Given the description of an element on the screen output the (x, y) to click on. 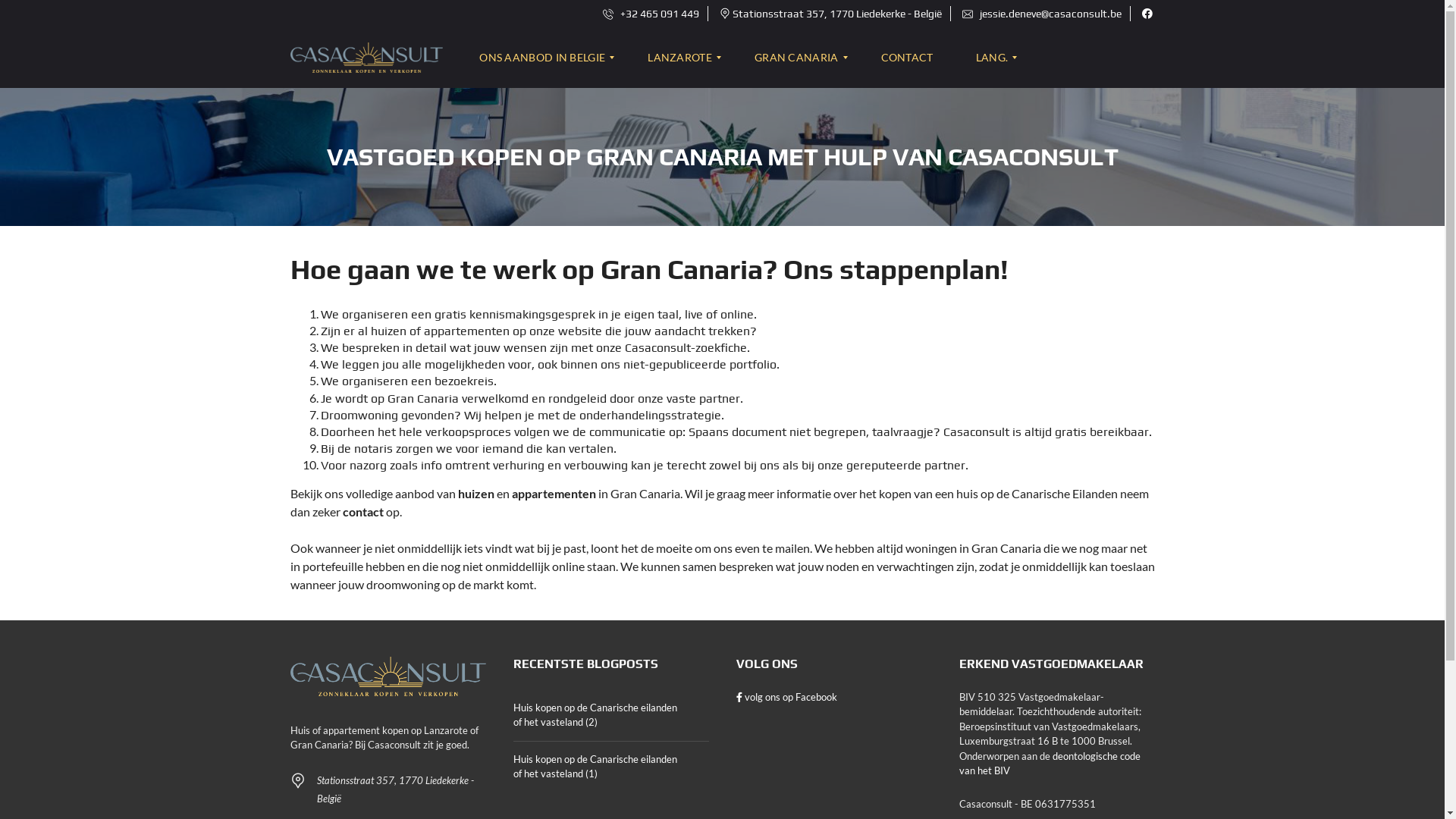
volg ons op Facebook Element type: text (785, 696)
GRAN CANARIA Element type: text (796, 57)
huizen Element type: text (477, 493)
Huis kopen op de Canarische eilanden of het vasteland (1) Element type: text (610, 766)
jessie.deneve@casaconsult.be Element type: text (1040, 13)
Casaconsult Element type: hover (365, 57)
+32 465 091 449 Element type: text (650, 13)
appartementen Element type: text (553, 493)
deontologische code van het BIV Element type: text (1048, 763)
LANG. Element type: text (992, 57)
LANZAROTE Element type: text (679, 57)
contact Element type: text (362, 511)
ONS AANBOD IN BELGIE Element type: text (548, 57)
Huis kopen op de Canarische eilanden of het vasteland (2) Element type: text (610, 715)
CONTACT Element type: text (907, 57)
